Given the description of an element on the screen output the (x, y) to click on. 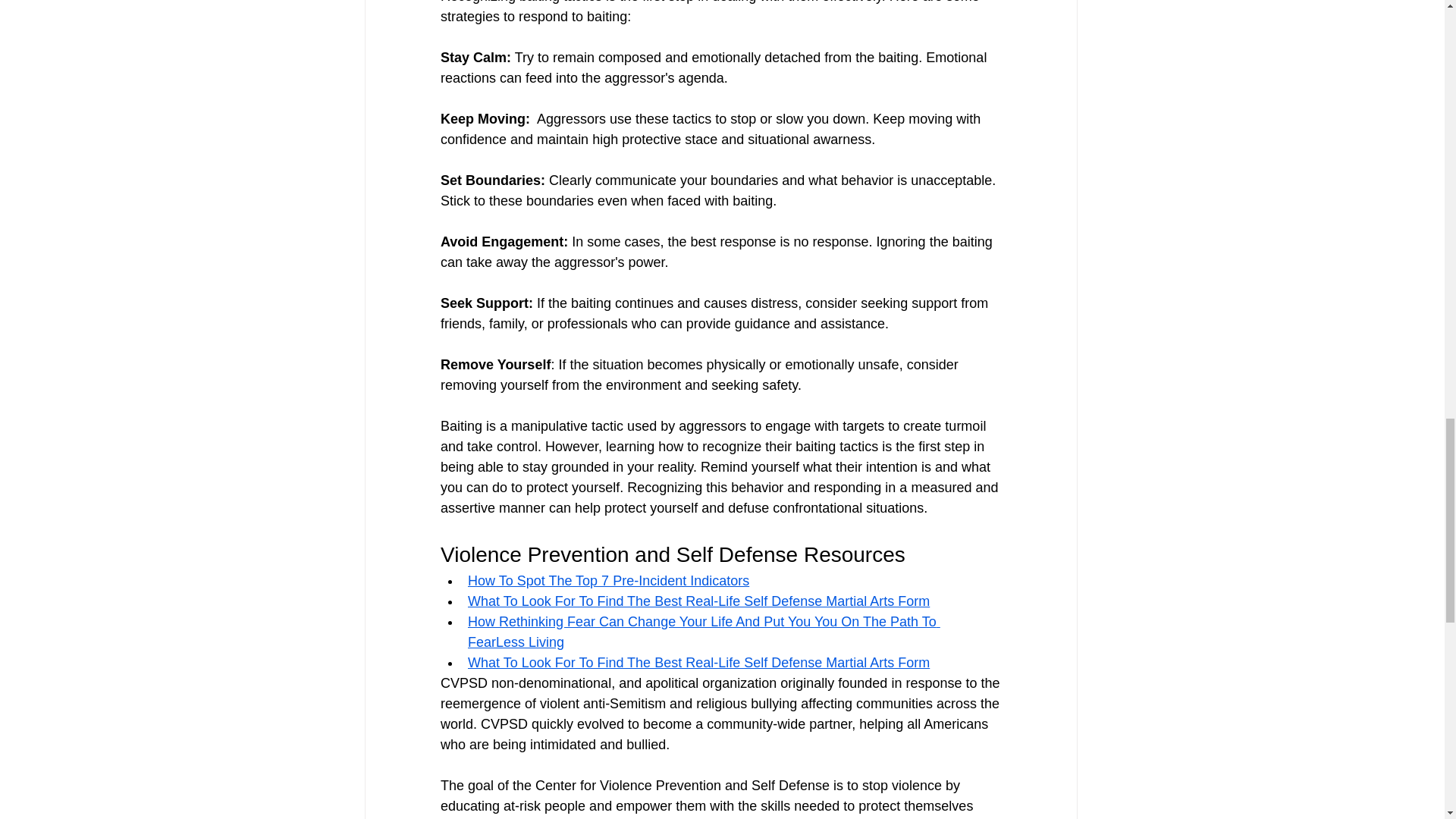
How To Spot The Top 7 Pre-Incident Indicators (608, 580)
